Given the description of an element on the screen output the (x, y) to click on. 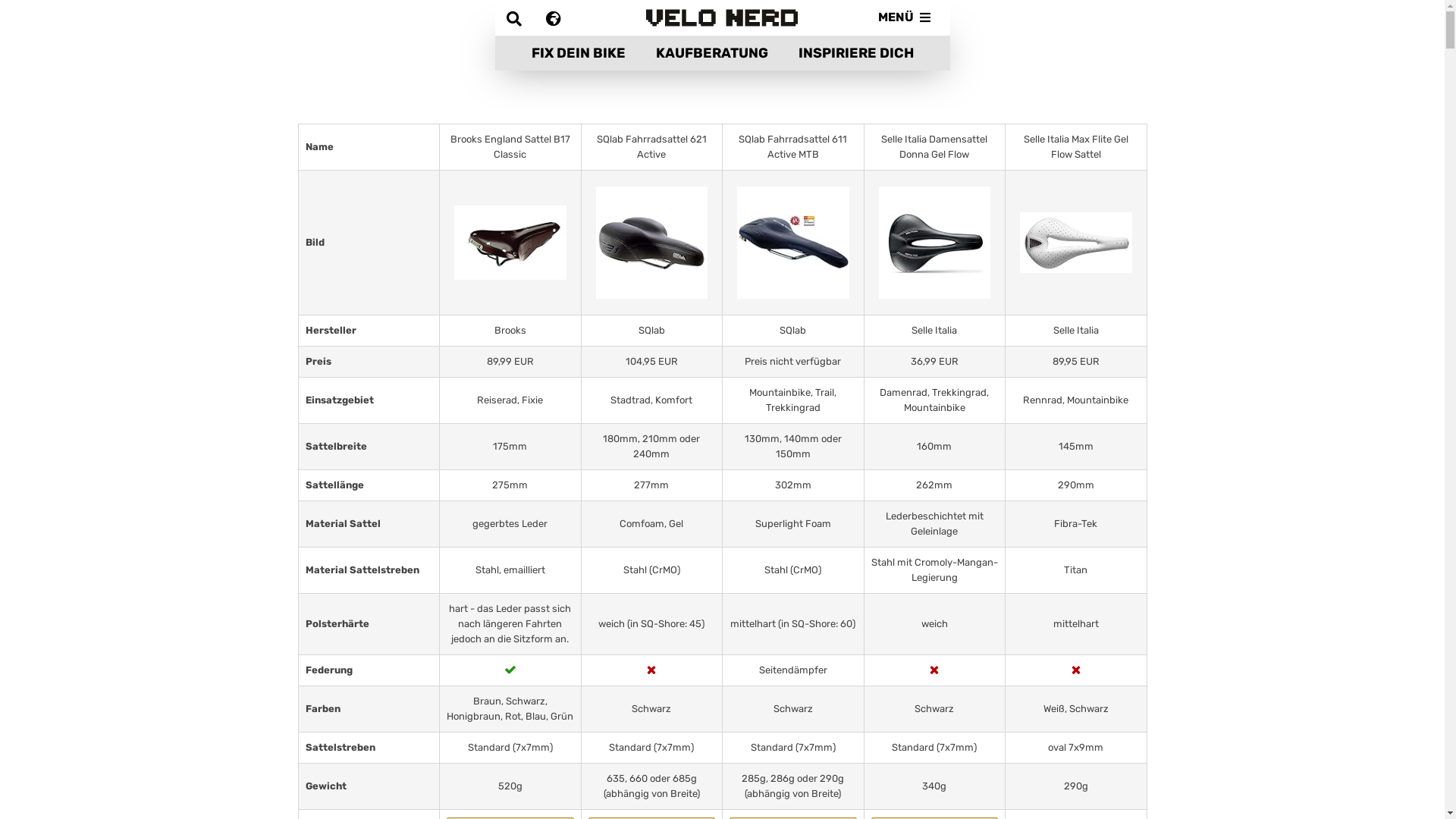
INSPIRIERE DICH Element type: text (855, 52)
FIX DEIN BIKE Element type: text (577, 52)
KAUFBERATUNG Element type: text (711, 52)
Suche Element type: hover (519, 17)
Zur Startseite Element type: hover (721, 17)
